Given the description of an element on the screen output the (x, y) to click on. 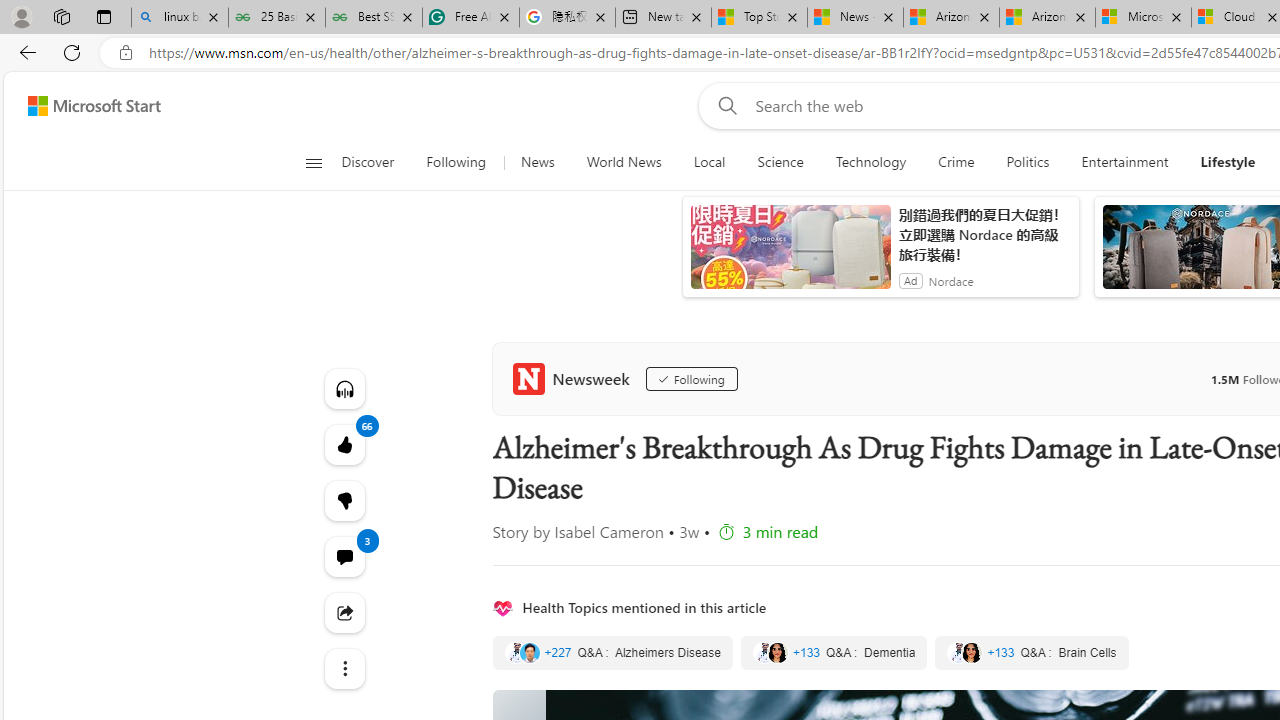
Listen to this article (343, 388)
linux basic - Search (179, 17)
